Given the description of an element on the screen output the (x, y) to click on. 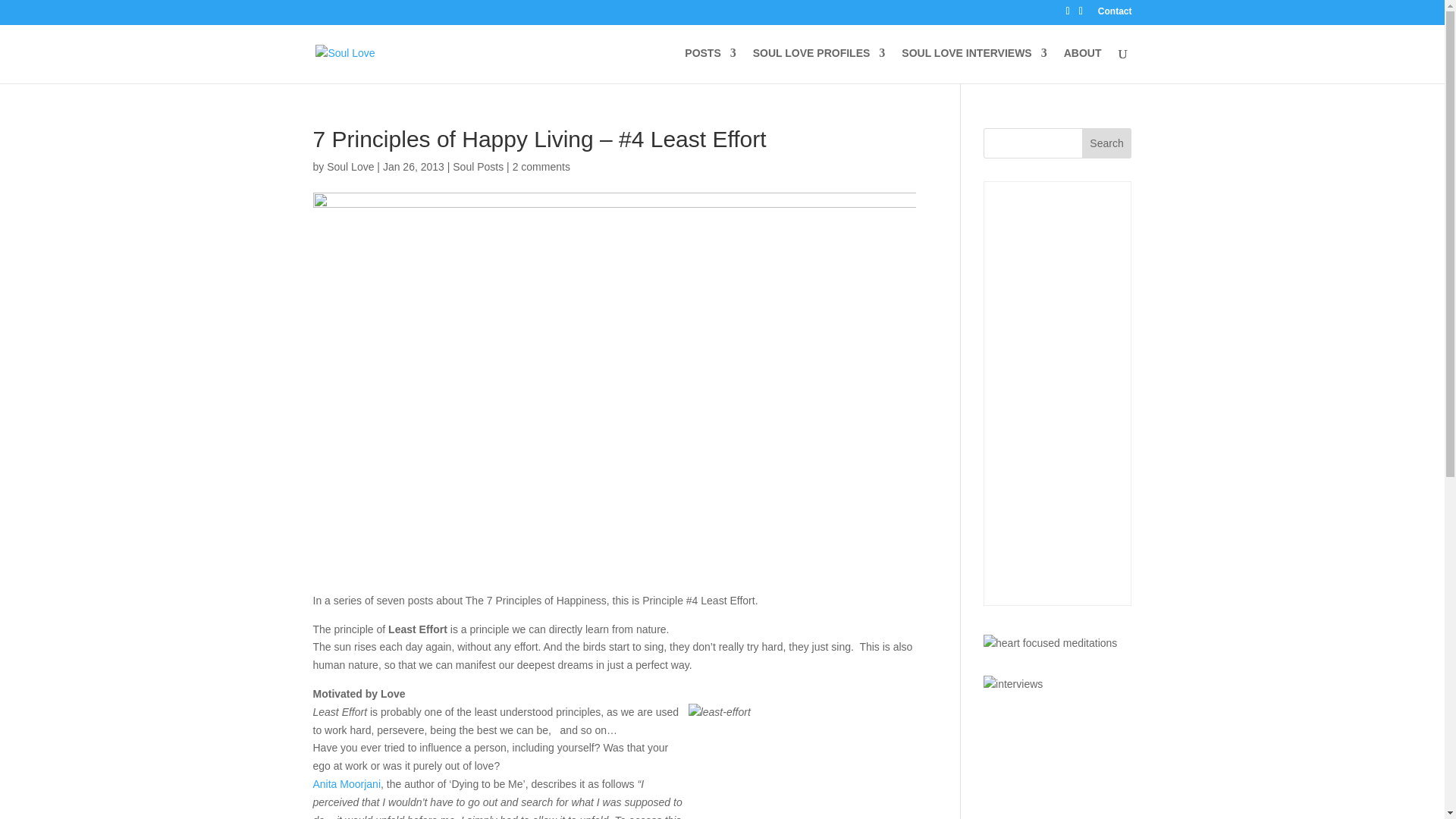
Posts by Soul Love (350, 166)
Search (1106, 142)
Contact (1114, 14)
POSTS (709, 65)
Soul Posts (477, 166)
Soul Love (350, 166)
SOUL LOVE PROFILES (818, 65)
SOUL LOVE INTERVIEWS (973, 65)
ABOUT (1083, 65)
Anita Moorjani (346, 784)
